Given the description of an element on the screen output the (x, y) to click on. 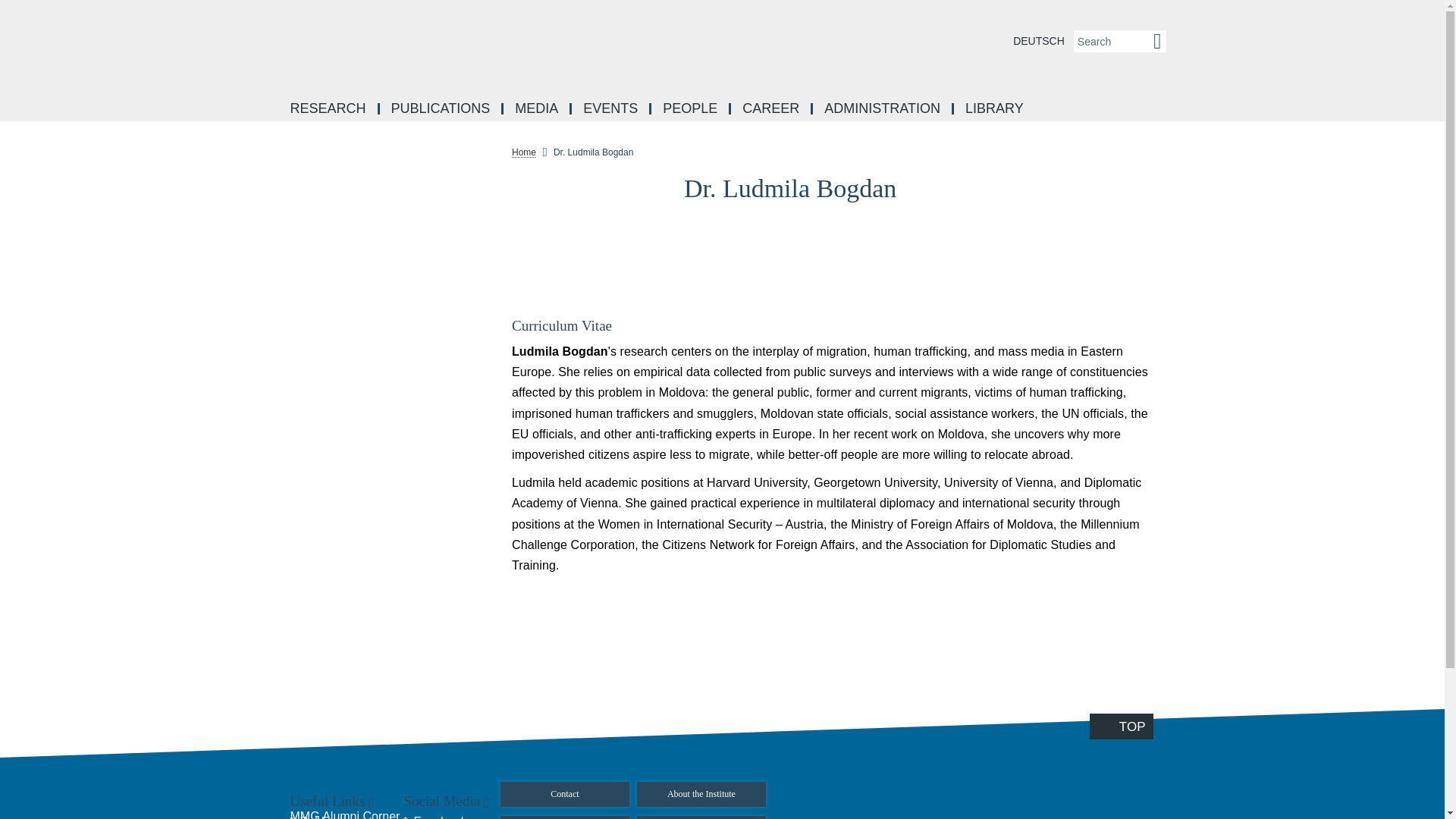
Twitter (1177, 287)
RESEARCH (329, 108)
DEUTSCH (1038, 41)
LinkedIn (1177, 219)
Facebook (1177, 184)
Reddit (1177, 252)
Print (1177, 389)
E-Mail (1177, 354)
Xing (1177, 321)
